Given the description of an element on the screen output the (x, y) to click on. 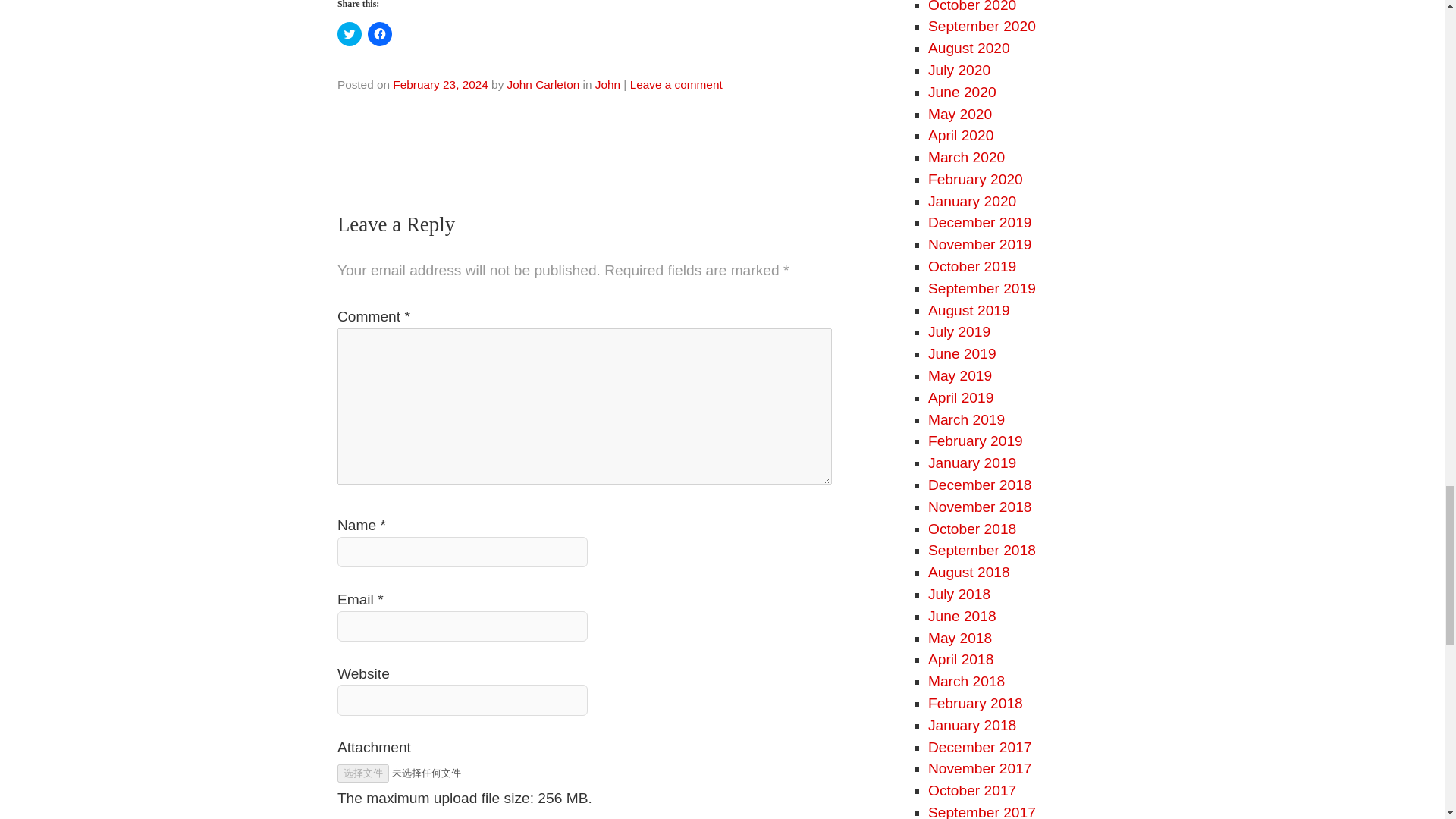
Click to share on Twitter (349, 33)
Click to share on Facebook (379, 33)
Leave a comment (676, 83)
February 23, 2024 (440, 83)
John (607, 83)
mp3, m4a, m4b, aac, ram, wav, ogg, oga, flac, wma, mka (510, 817)
pps, ppt, pptx, pptm, ppsx, ppsm, sldx, sldm, odp, key (772, 817)
7:44 pm (440, 83)
View all posts by John Carleton (542, 83)
John Carleton (542, 83)
